Given the description of an element on the screen output the (x, y) to click on. 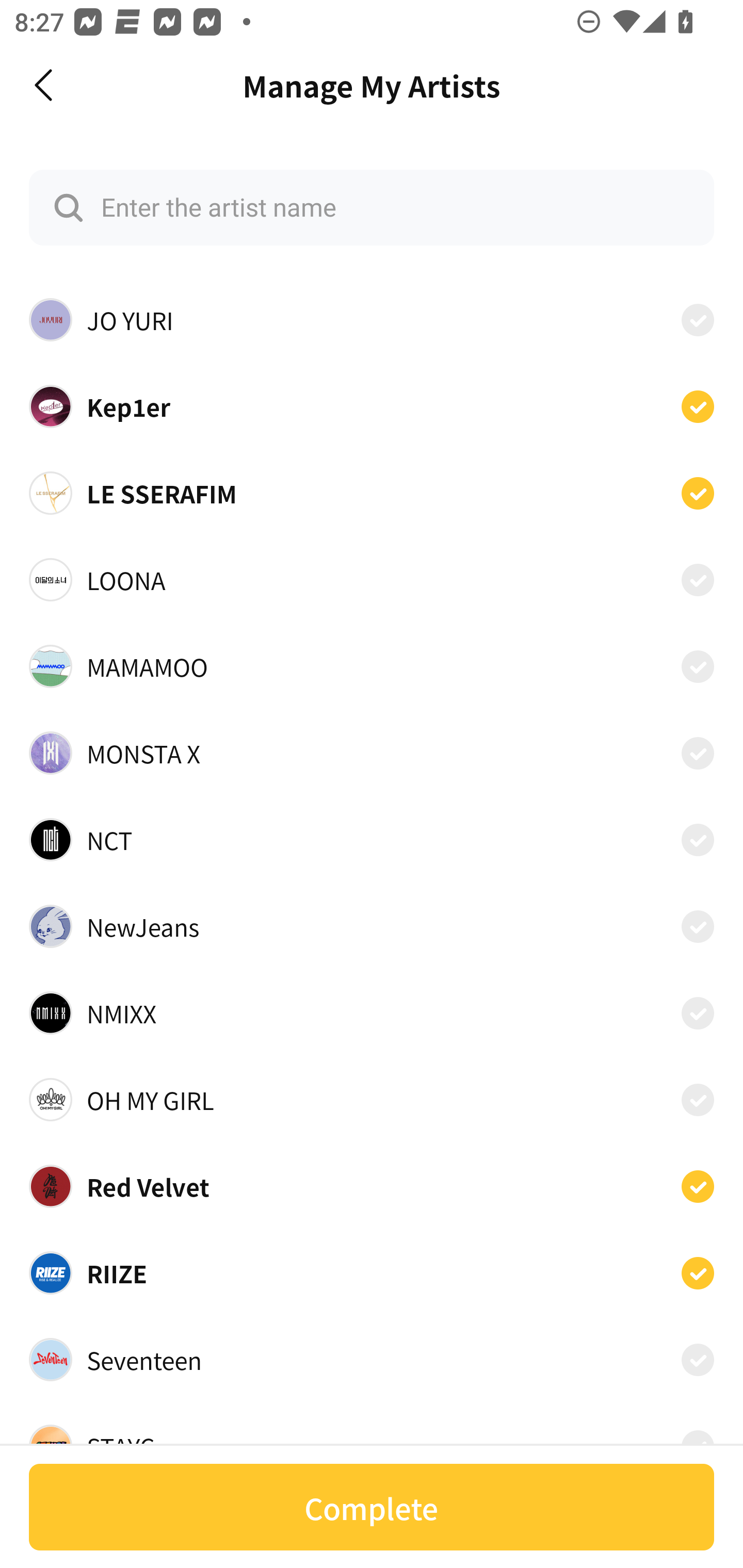
Enter the artist name (371, 207)
JO YURI (371, 319)
Kep1er (371, 406)
LE SSERAFIM (371, 492)
LOONA (371, 580)
MAMAMOO (371, 666)
MONSTA X (371, 752)
NCT (371, 839)
NewJeans (371, 926)
NMIXX (371, 1012)
OH MY GIRL (371, 1099)
Red Velvet (371, 1186)
RIIZE (371, 1273)
Seventeen (371, 1359)
Complete (371, 1507)
